Given the description of an element on the screen output the (x, y) to click on. 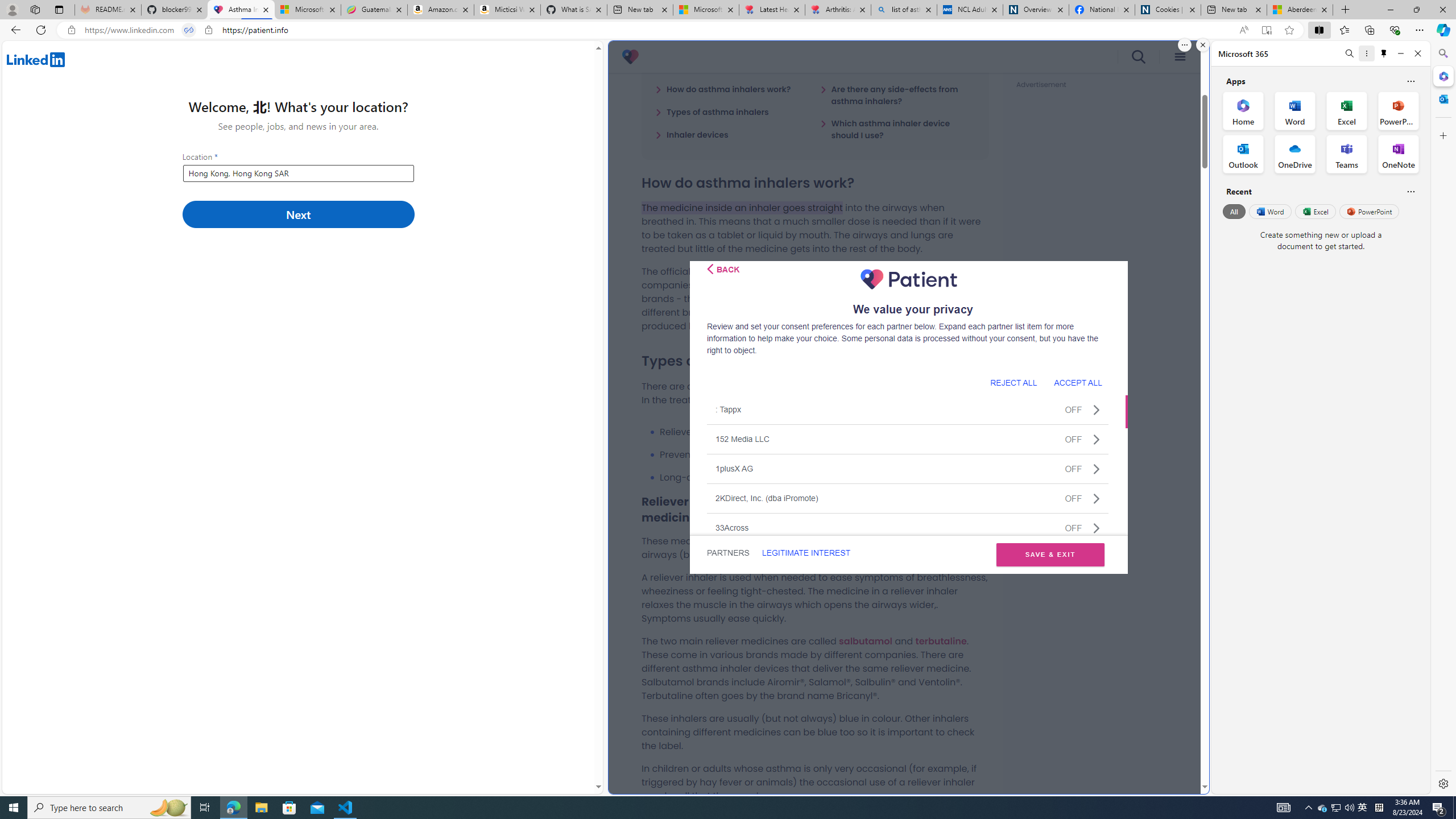
Outlook Office App (1243, 154)
ACCEPT ALL (1078, 382)
SAVE & EXIT (1050, 554)
Preventers (steroid inhalers). (823, 454)
Unpin side pane (1383, 53)
Types of asthma inhalers (711, 111)
menu icon (1179, 56)
Home Office App (1243, 110)
